Given the description of an element on the screen output the (x, y) to click on. 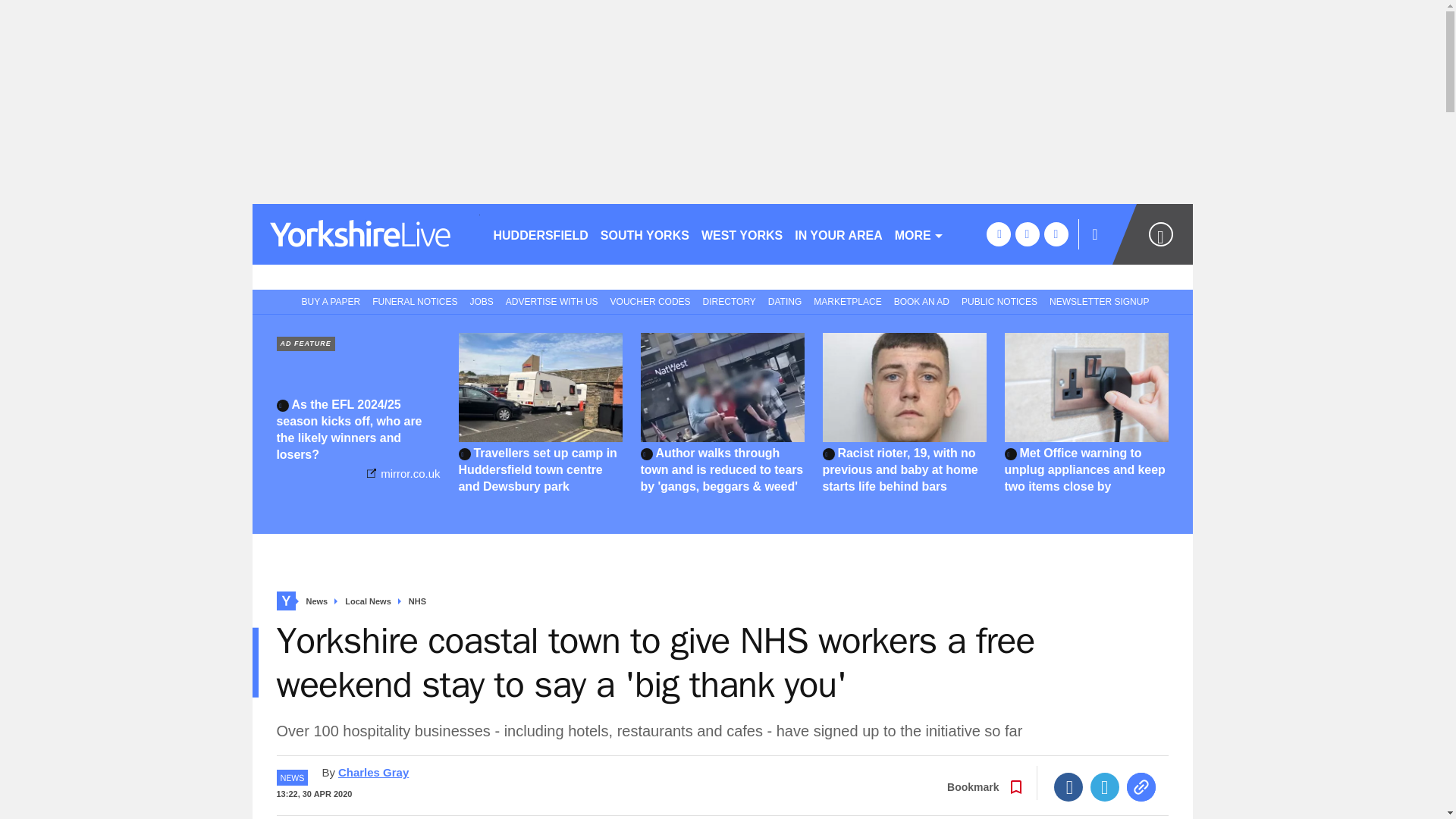
Twitter (1104, 787)
instagram (1055, 233)
facebook (997, 233)
twitter (1026, 233)
WEST YORKS (742, 233)
HUDDERSFIELD (540, 233)
MORE (919, 233)
SOUTH YORKS (644, 233)
IN YOUR AREA (838, 233)
Facebook (1068, 787)
